Given the description of an element on the screen output the (x, y) to click on. 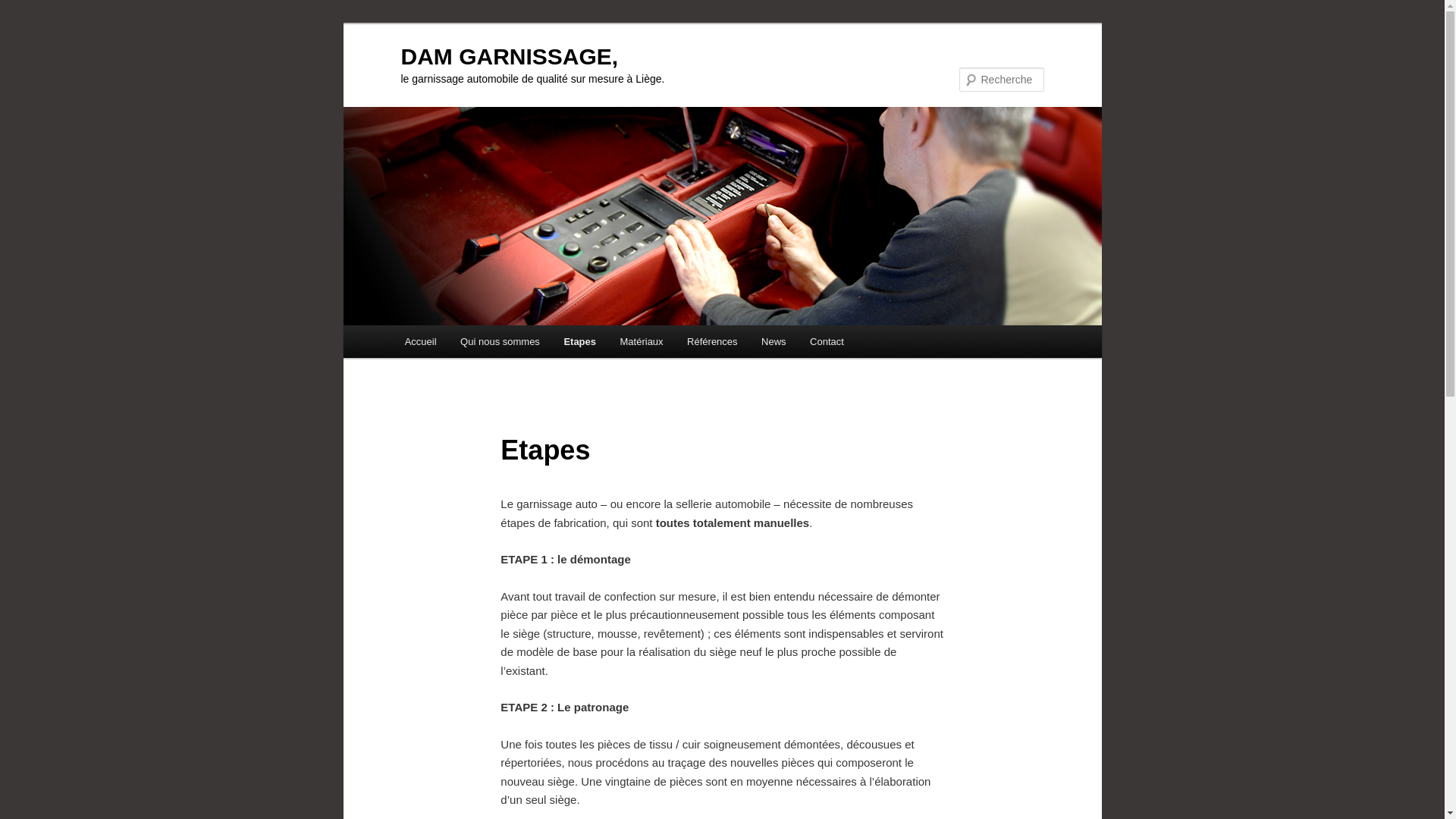
DAM GARNISSAGE, Element type: text (509, 56)
Etapes Element type: text (580, 341)
Qui nous sommes Element type: text (499, 341)
Aller au contenu secondaire Element type: text (484, 344)
News Element type: text (773, 341)
Contact Element type: text (826, 341)
Accueil Element type: text (420, 341)
Aller au contenu principal Element type: text (477, 344)
Recherche Element type: text (33, 8)
